Given the description of an element on the screen output the (x, y) to click on. 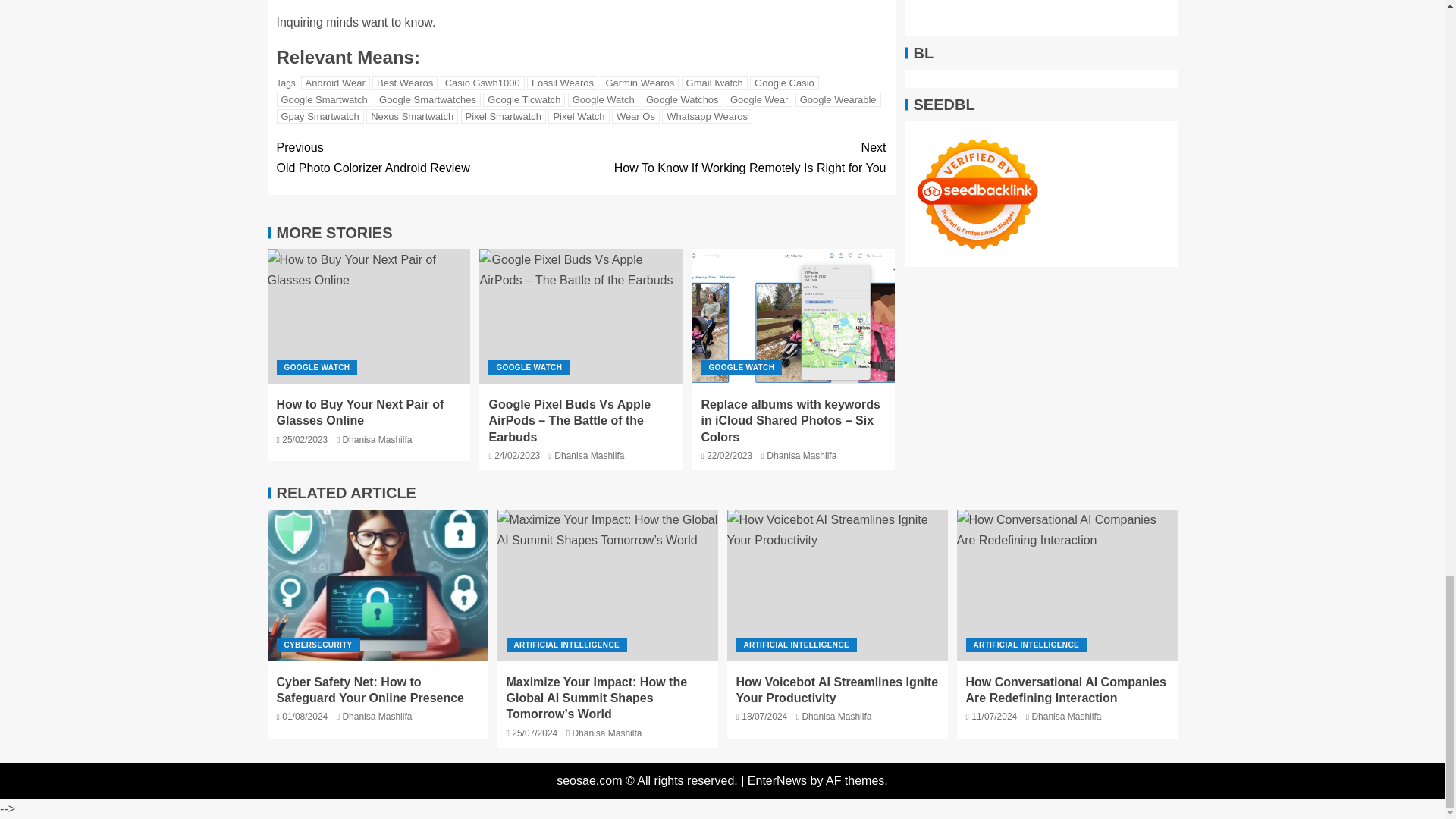
Best Wearos (405, 83)
Garmin Wearos (638, 83)
Fossil Wearos (562, 83)
Casio Gswh1000 (482, 83)
Android Wear (335, 83)
Gmail Iwatch (714, 83)
How Conversational AI Companies Are Redefining Interaction (1066, 584)
Cyber Safety Net: How to Safeguard Your Online Presence (376, 584)
How to Buy Your Next Pair of Glasses Online (368, 316)
How Voicebot AI Streamlines Ignite Your Productivity (836, 584)
